Given the description of an element on the screen output the (x, y) to click on. 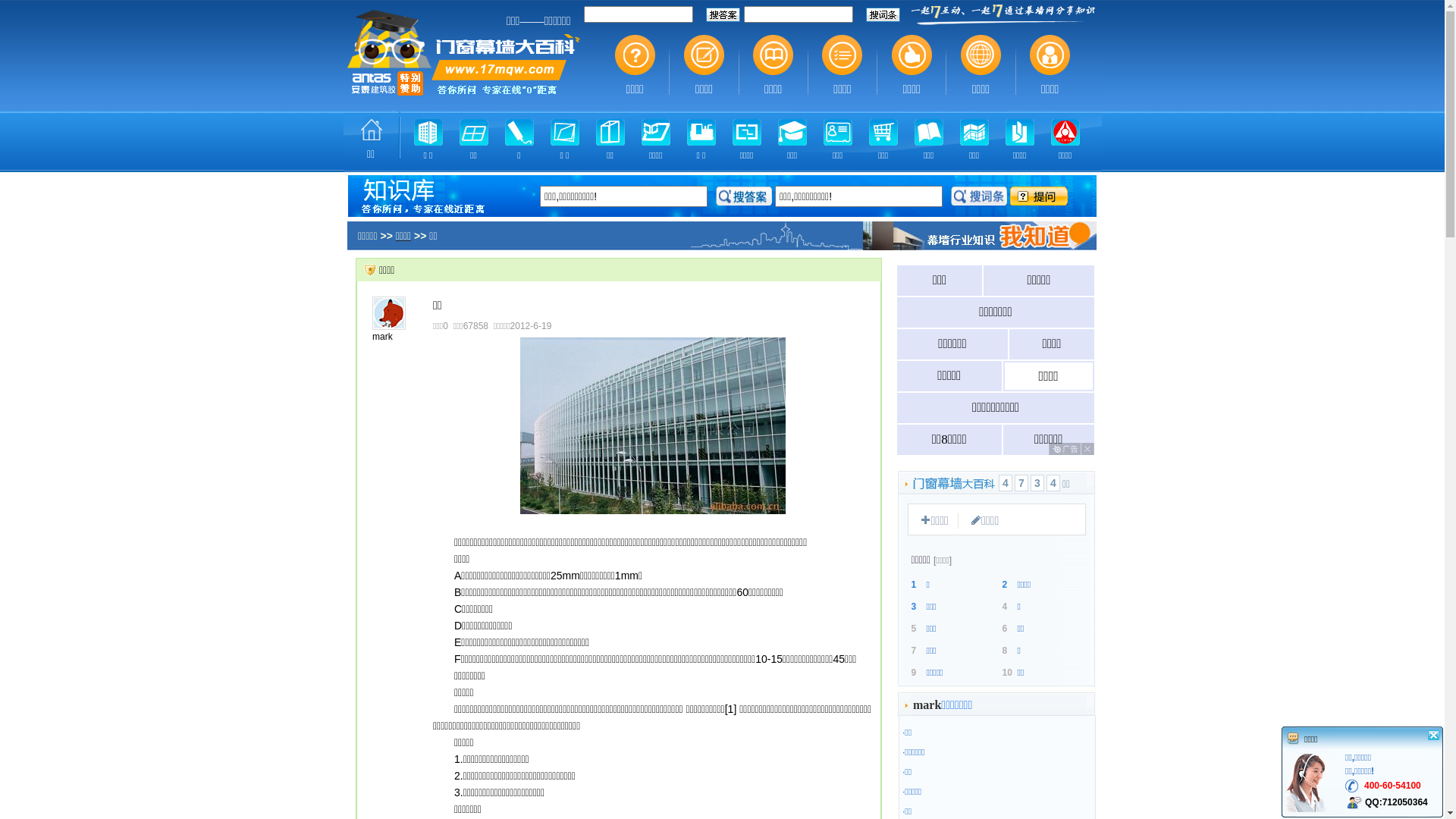
mark Element type: text (927, 705)
mark Element type: text (382, 336)
QQ:712050364 Element type: text (1396, 802)
